Given the description of an element on the screen output the (x, y) to click on. 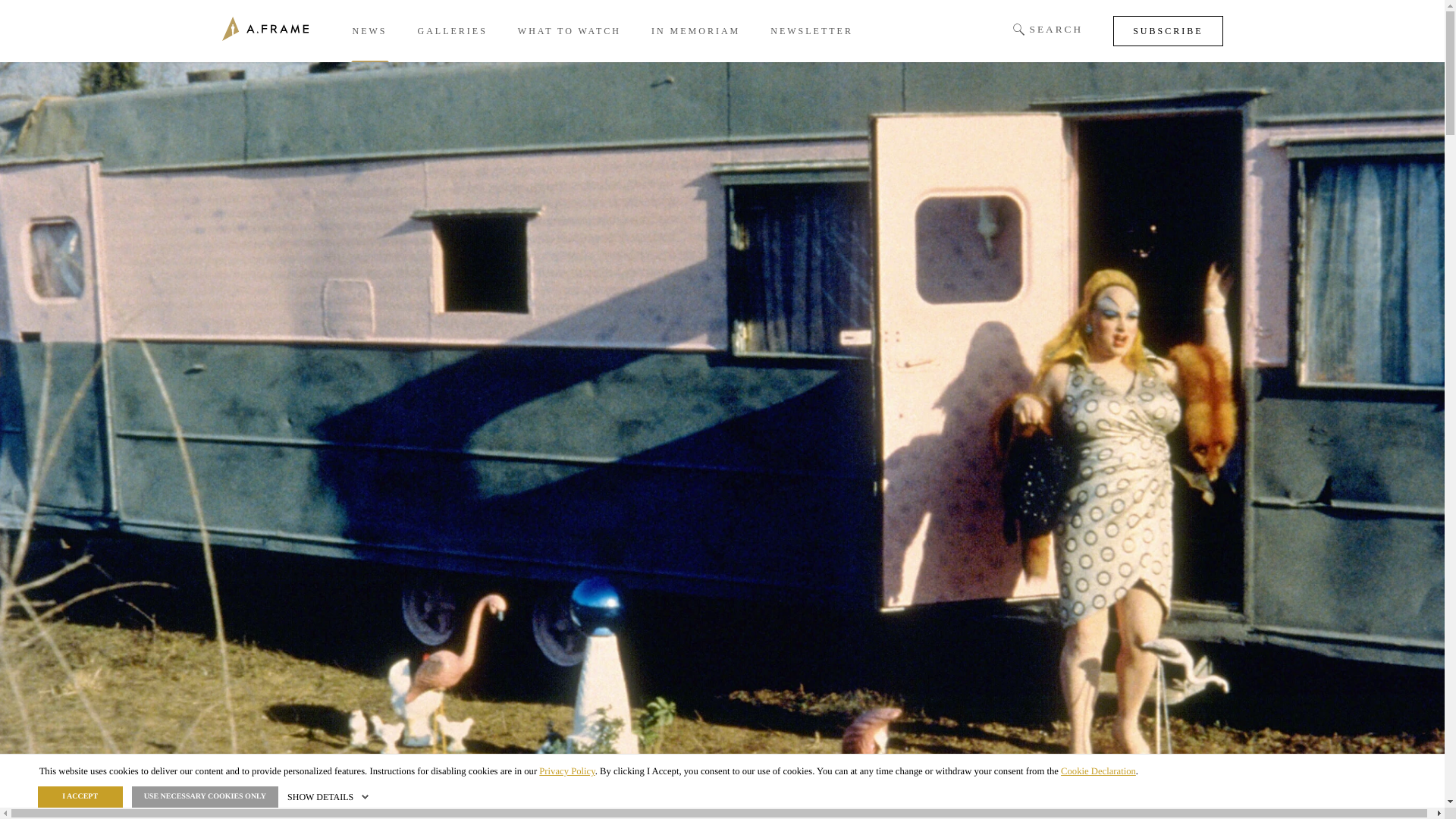
Cookie Declaration (1098, 770)
USE NECESSARY COOKIES ONLY (205, 796)
SHOW DETAILS (329, 797)
Privacy Policy (566, 770)
I ACCEPT (79, 796)
